Given the description of an element on the screen output the (x, y) to click on. 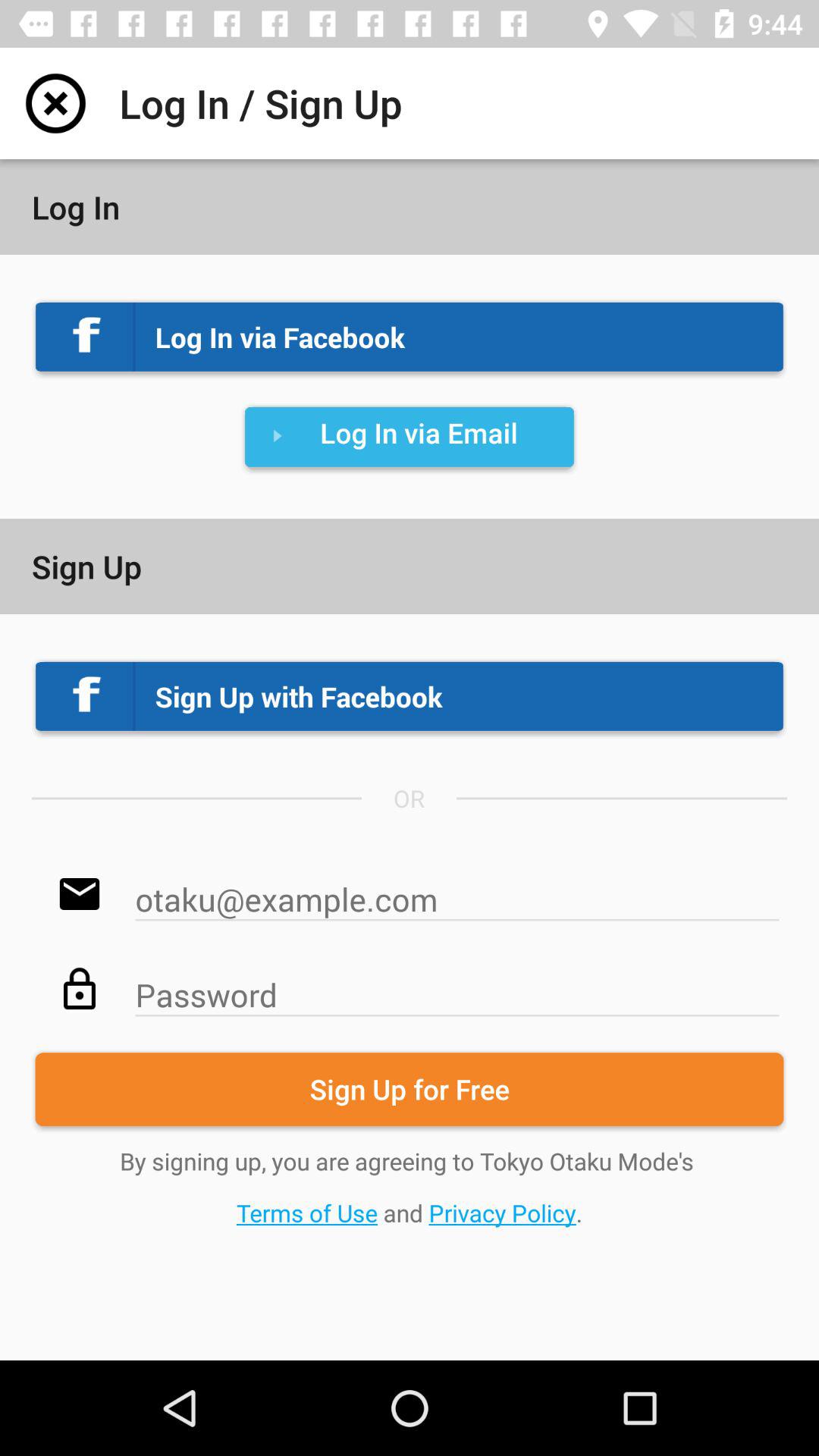
close page (55, 103)
